Given the description of an element on the screen output the (x, y) to click on. 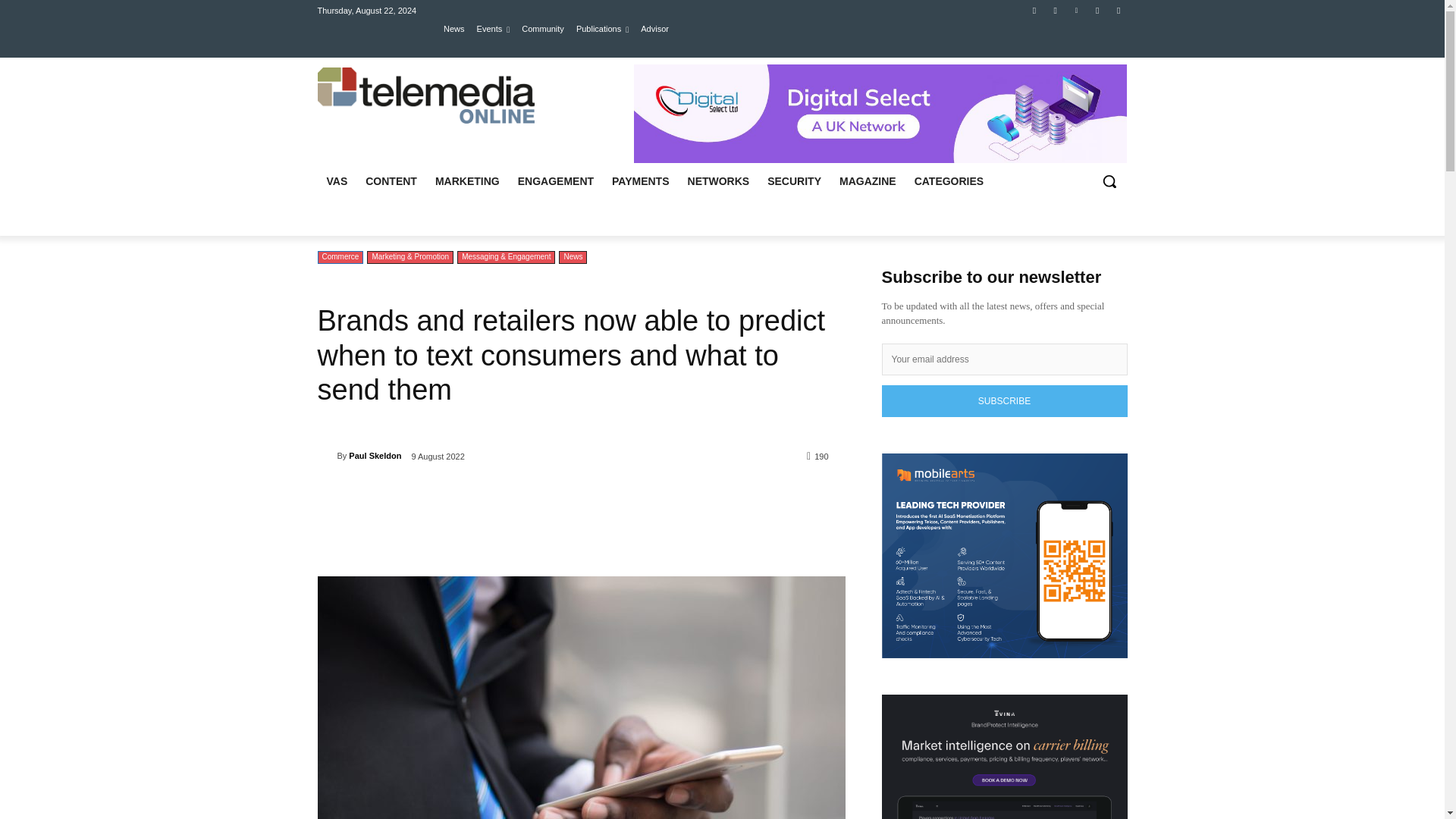
Twitter (1055, 9)
Rss (1117, 9)
Youtube (1097, 9)
Facebook (1034, 9)
Linkedin (1075, 9)
Telemedia Online Magazine Logo (425, 95)
DigitalSelect1100x220 (879, 113)
